Given the description of an element on the screen output the (x, y) to click on. 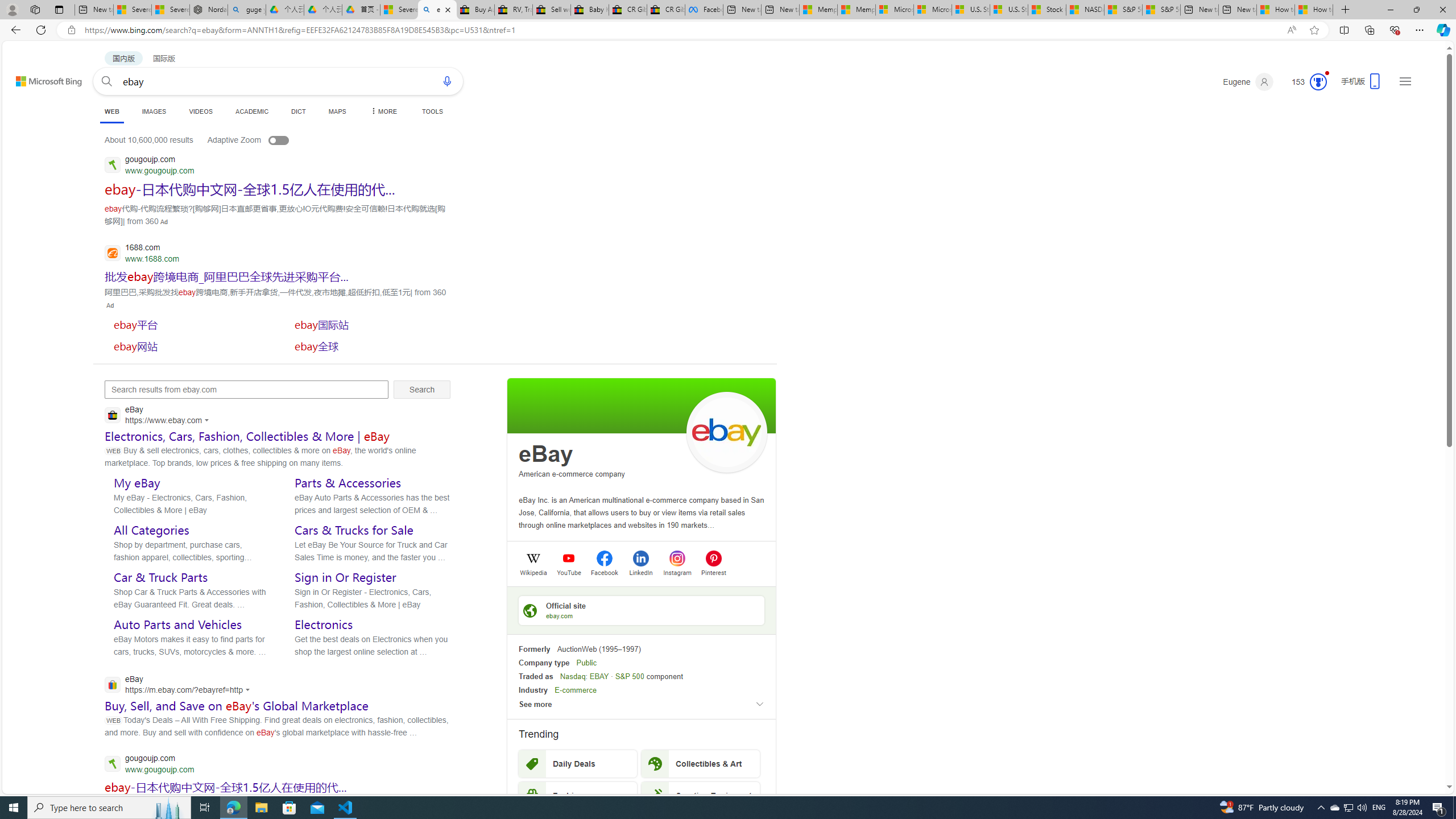
Facebook (703, 9)
guge yunpan - Search (246, 9)
SERP,5721 (225, 786)
Official siteebay.com (641, 610)
Collectibles & Art (701, 763)
Back to Bing search (41, 78)
Pinterest (713, 571)
S&P 500 (629, 676)
SERP,5713 (370, 324)
